Given the description of an element on the screen output the (x, y) to click on. 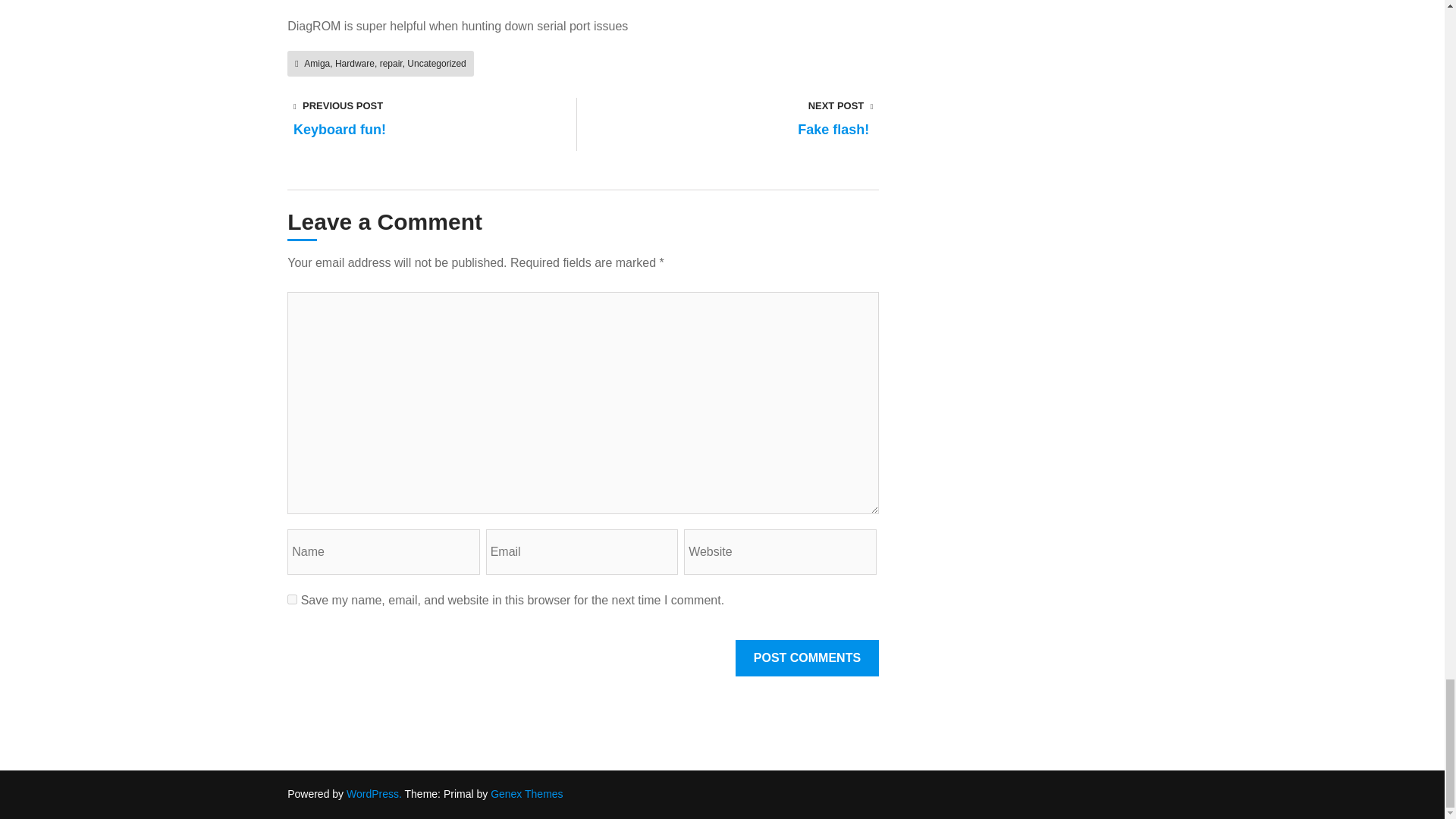
Hardware (354, 63)
Genex Themes (526, 793)
Post Comments (807, 657)
Keyboard fun! (345, 132)
Post Comments (807, 657)
repair (391, 63)
WordPress. (373, 793)
Uncategorized (436, 63)
Amiga (317, 63)
yes (291, 599)
